Given the description of an element on the screen output the (x, y) to click on. 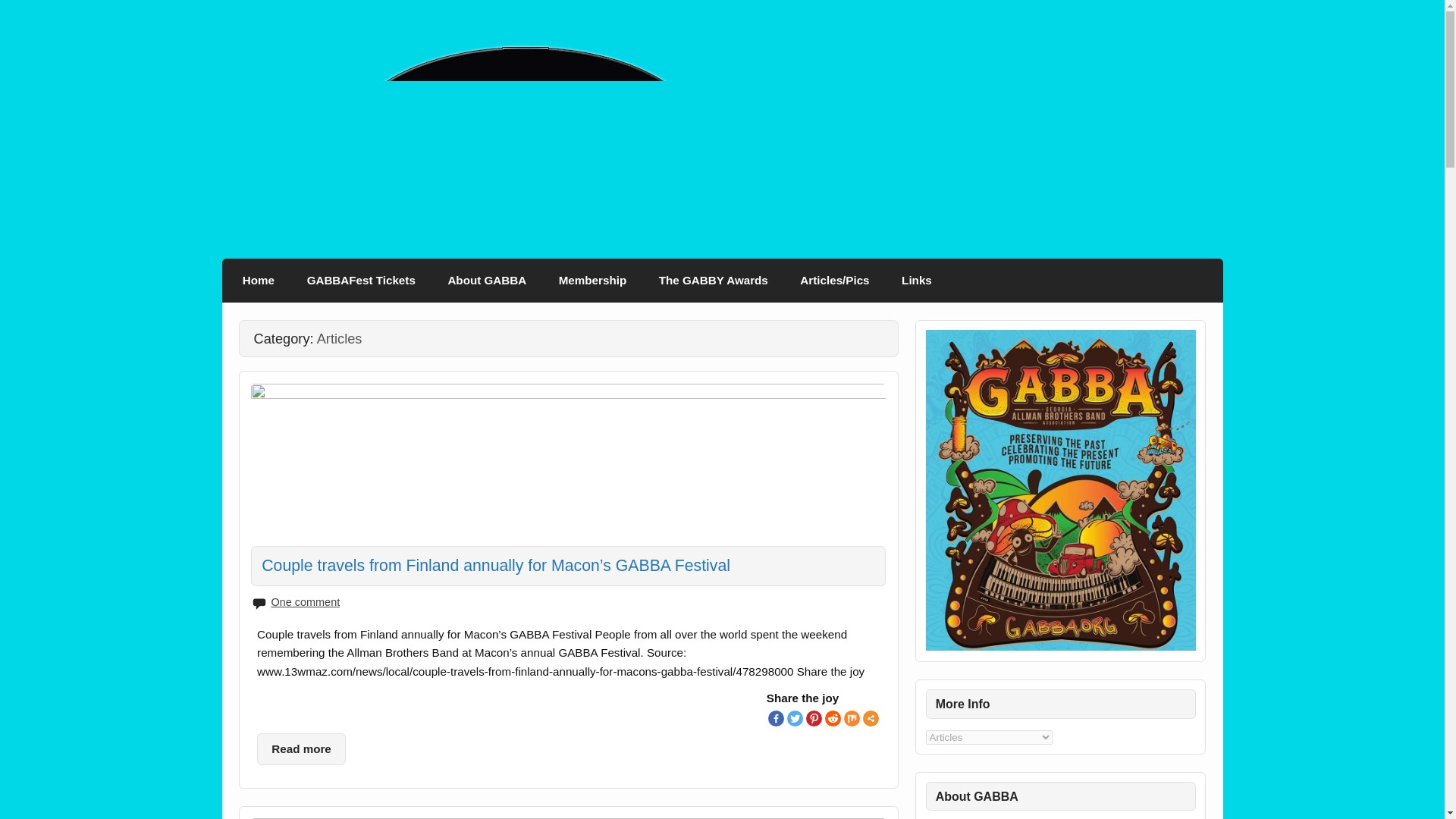
About GABBA (485, 280)
Read more (301, 748)
Reddit (833, 718)
Pinterest (814, 718)
Facebook (776, 718)
The GABBY Awards (713, 280)
More (871, 718)
Home (259, 280)
Links (916, 280)
Mix (852, 718)
